Given the description of an element on the screen output the (x, y) to click on. 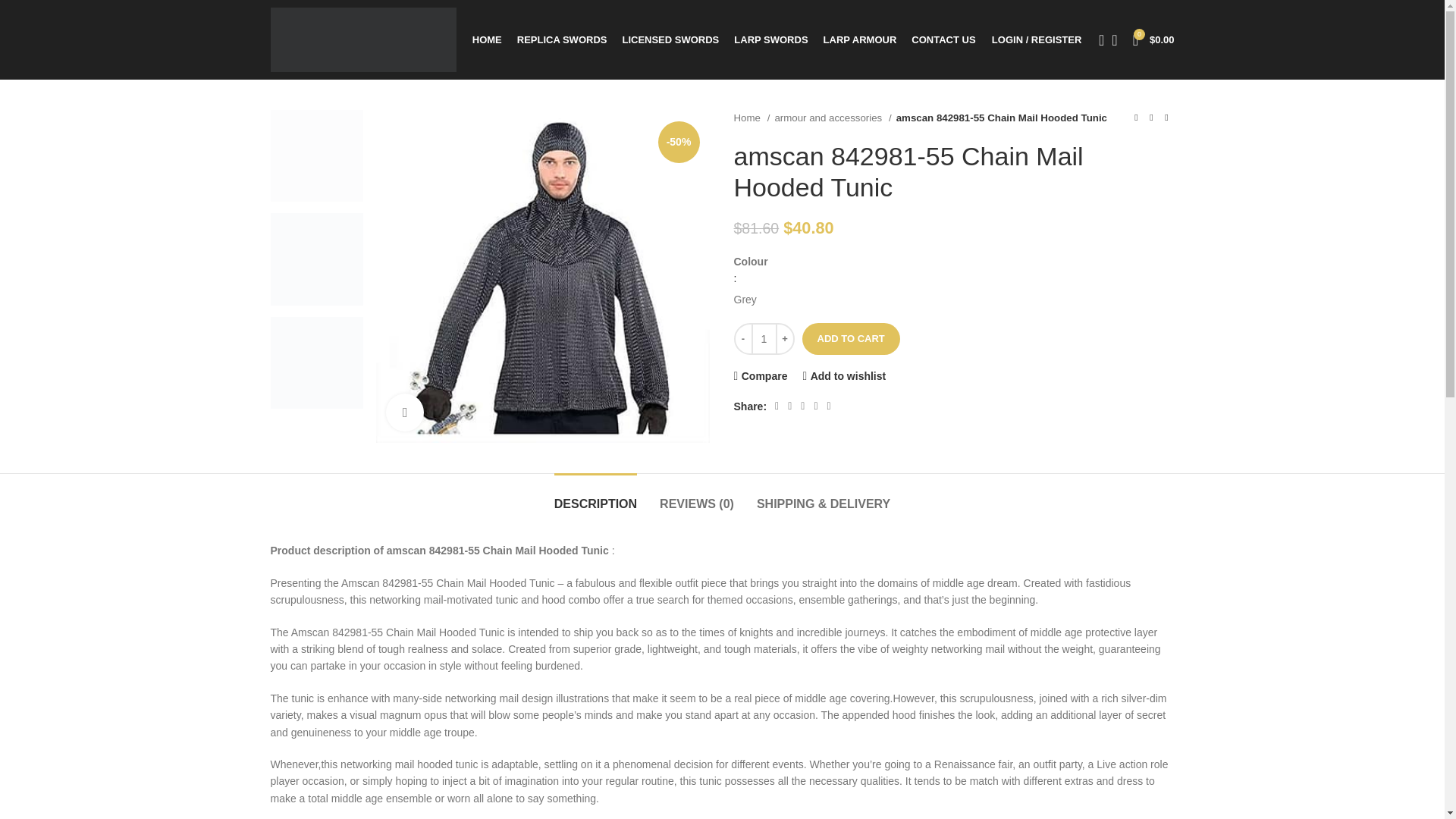
HOME (486, 39)
My account (1036, 39)
REPLICA SWORDS (561, 39)
armour and accessories (832, 117)
Shopping cart (1153, 39)
Add to wishlist (843, 375)
LARP ARMOUR (860, 39)
CONTACT US (943, 39)
ADD TO CART (850, 338)
Compare (760, 375)
